Given the description of an element on the screen output the (x, y) to click on. 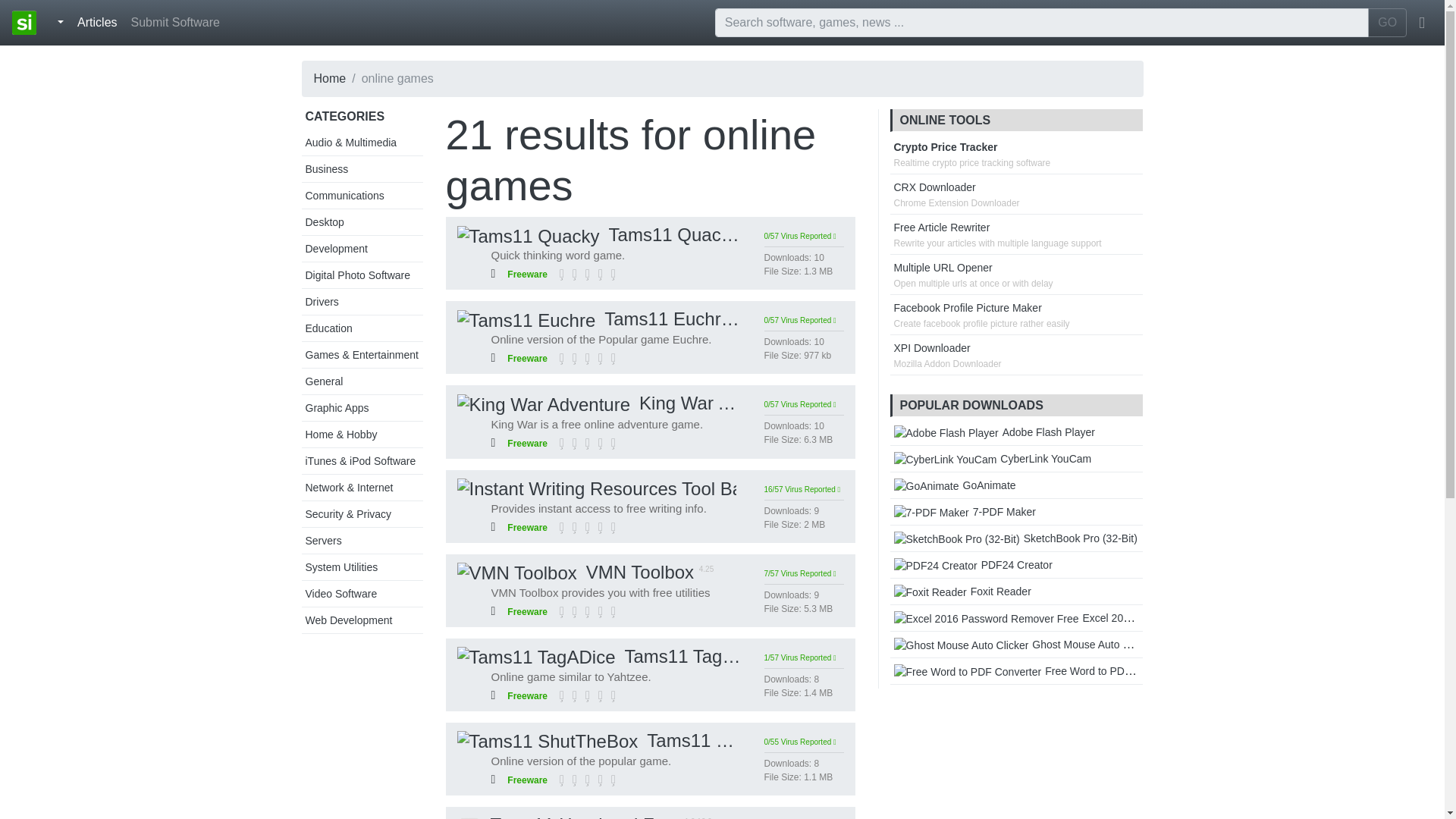
GO (1387, 22)
Communications (344, 195)
Tams11 Quacky (597, 234)
Graphic Apps (336, 408)
Home (330, 78)
Desktop (323, 222)
Education (328, 328)
Development (336, 248)
General (323, 381)
Drivers (320, 301)
